Given the description of an element on the screen output the (x, y) to click on. 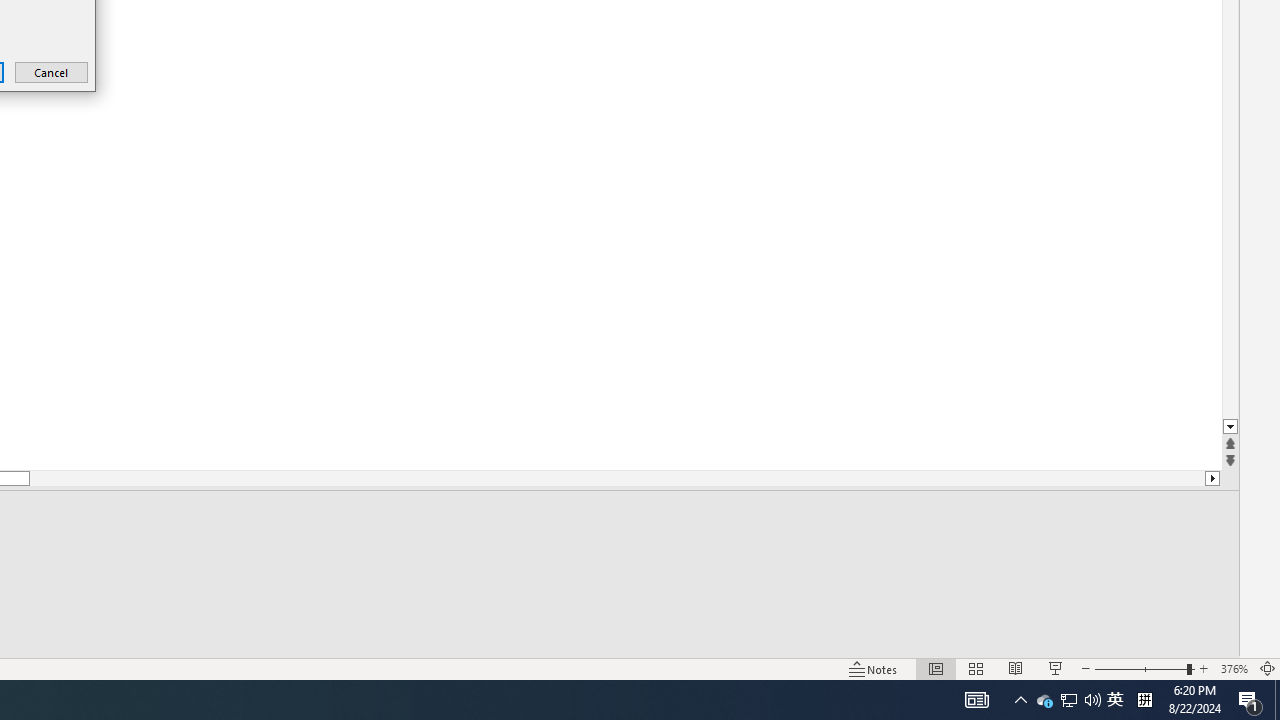
Cancel (1044, 699)
Tray Input Indicator - Chinese (Simplified, China) (51, 72)
Action Center, 1 new notification (1144, 699)
Show desktop (1250, 699)
Q2790: 100% (1277, 699)
AutomationID: 4105 (1092, 699)
User Promoted Notification Area (1069, 699)
